Given the description of an element on the screen output the (x, y) to click on. 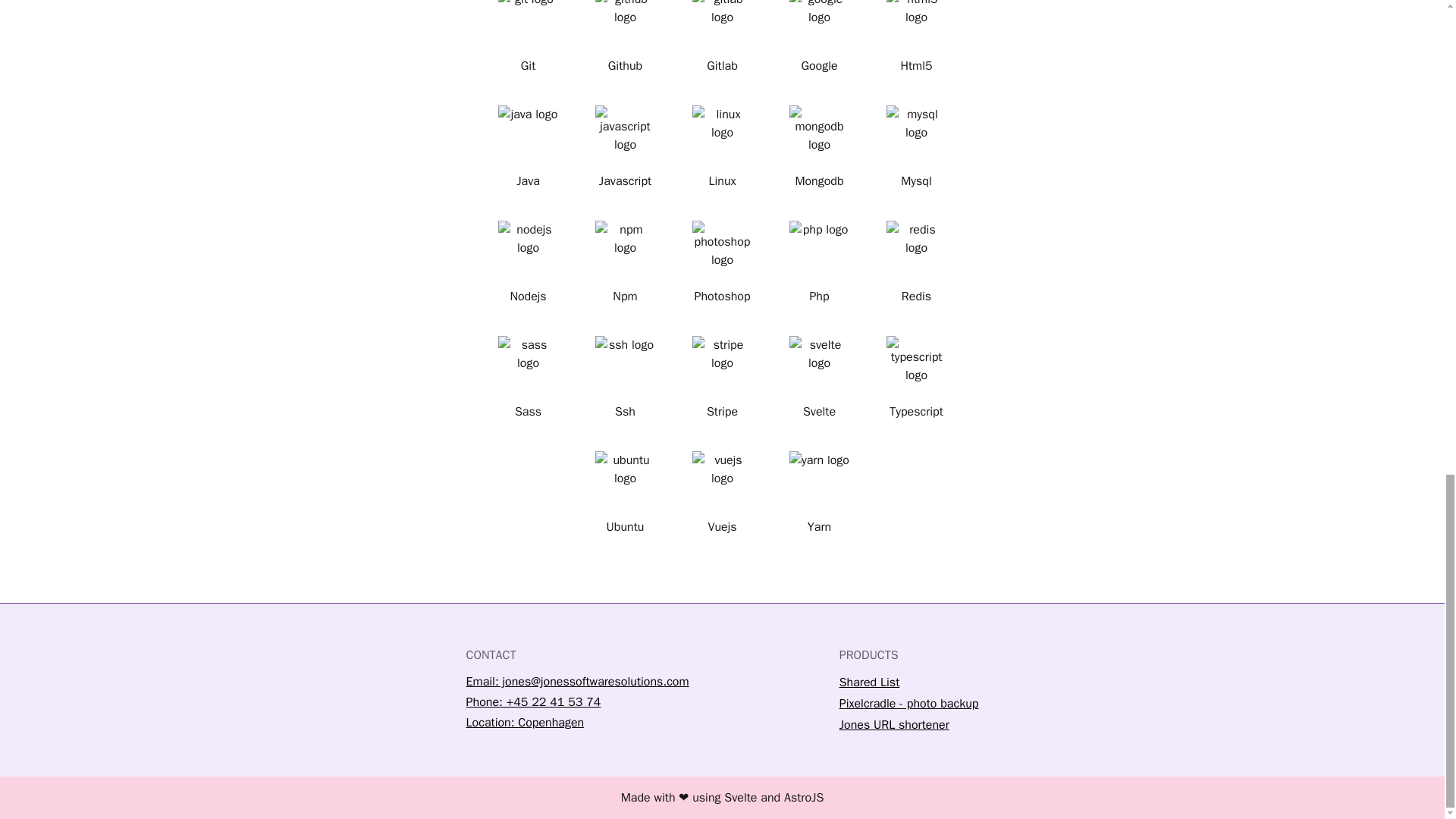
Shared List (984, 682)
Pixelcradle - photo backup (984, 703)
Jones URL shortener (984, 724)
Location: Copenhagen (652, 723)
